Given the description of an element on the screen output the (x, y) to click on. 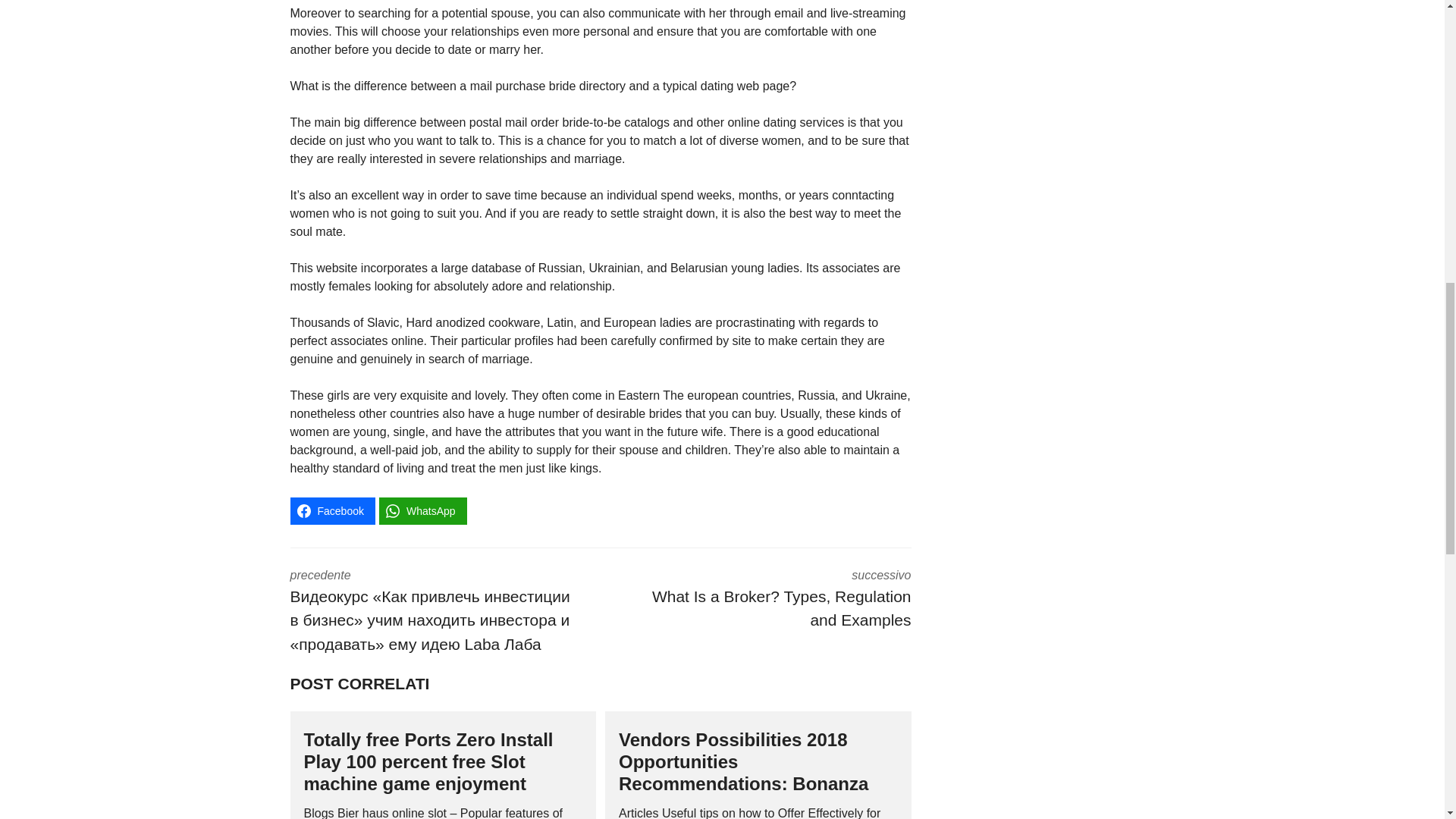
Facebook (331, 510)
WhatsApp (422, 510)
Condividi su WhatsApp (422, 510)
Condividi su Facebook (331, 510)
